Given the description of an element on the screen output the (x, y) to click on. 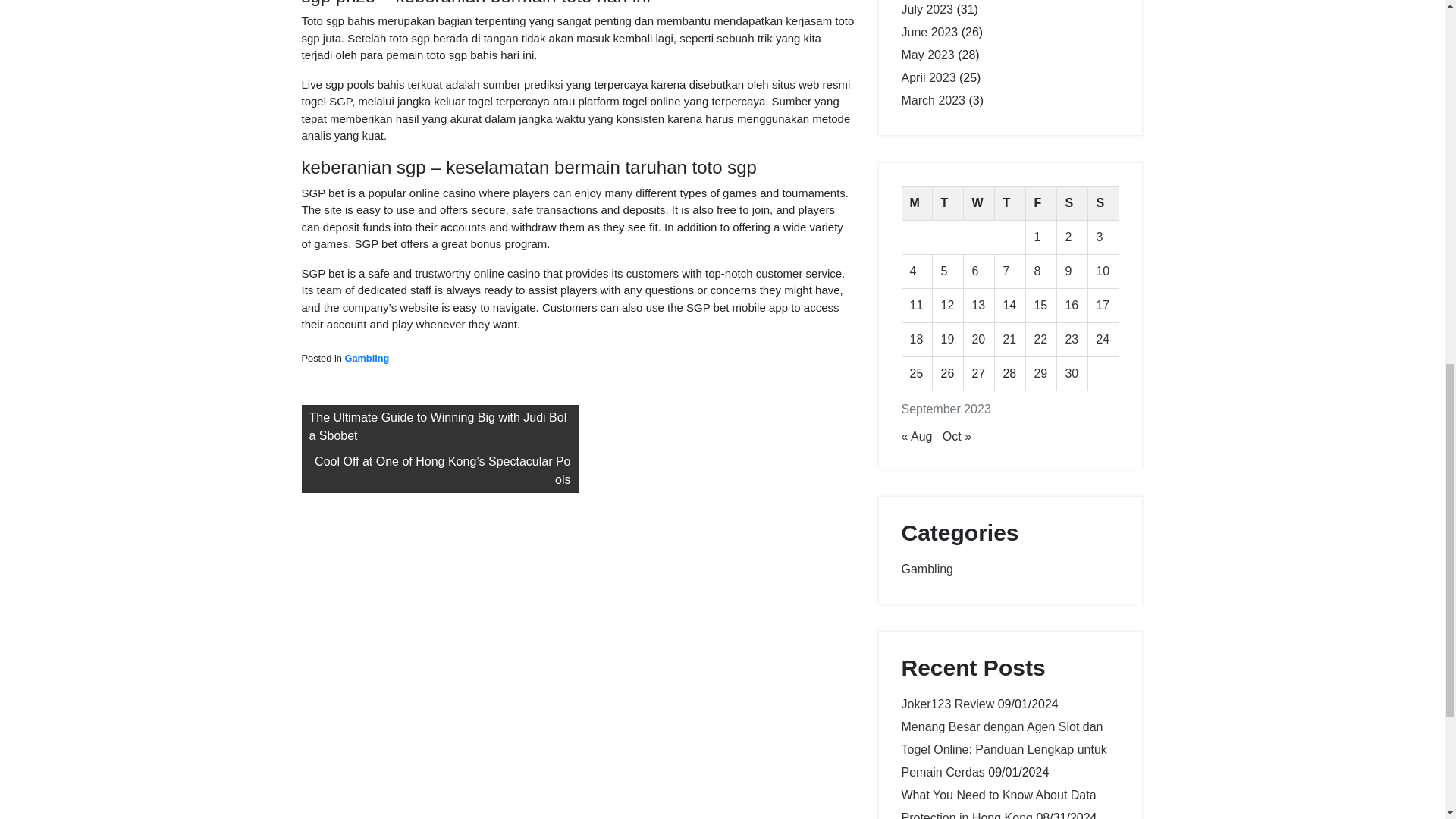
May 2023 (927, 54)
Gambling (365, 357)
Saturday (1072, 203)
Tuesday (948, 203)
Friday (1041, 203)
Wednesday (978, 203)
10 (1102, 270)
April 2023 (928, 77)
June 2023 (929, 31)
Thursday (1010, 203)
